Given the description of an element on the screen output the (x, y) to click on. 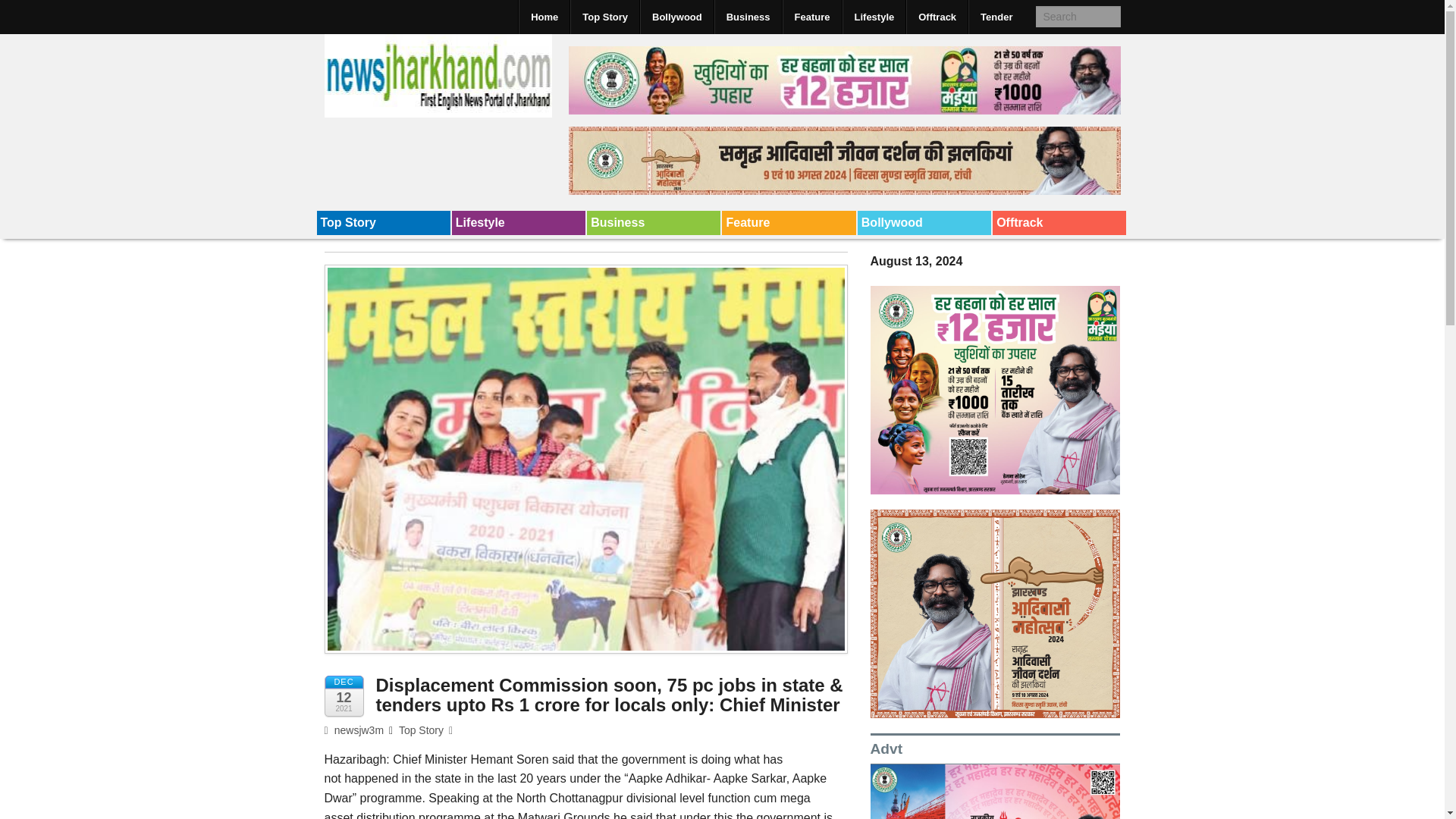
View all posts by newsjw3m (354, 729)
Offtrack (1058, 222)
Feature (812, 17)
Top Story (604, 17)
Business (747, 17)
Top Story (383, 222)
Bollywood (924, 222)
Lifestyle (518, 222)
Lifestyle (874, 17)
Bollywood (676, 17)
